Given the description of an element on the screen output the (x, y) to click on. 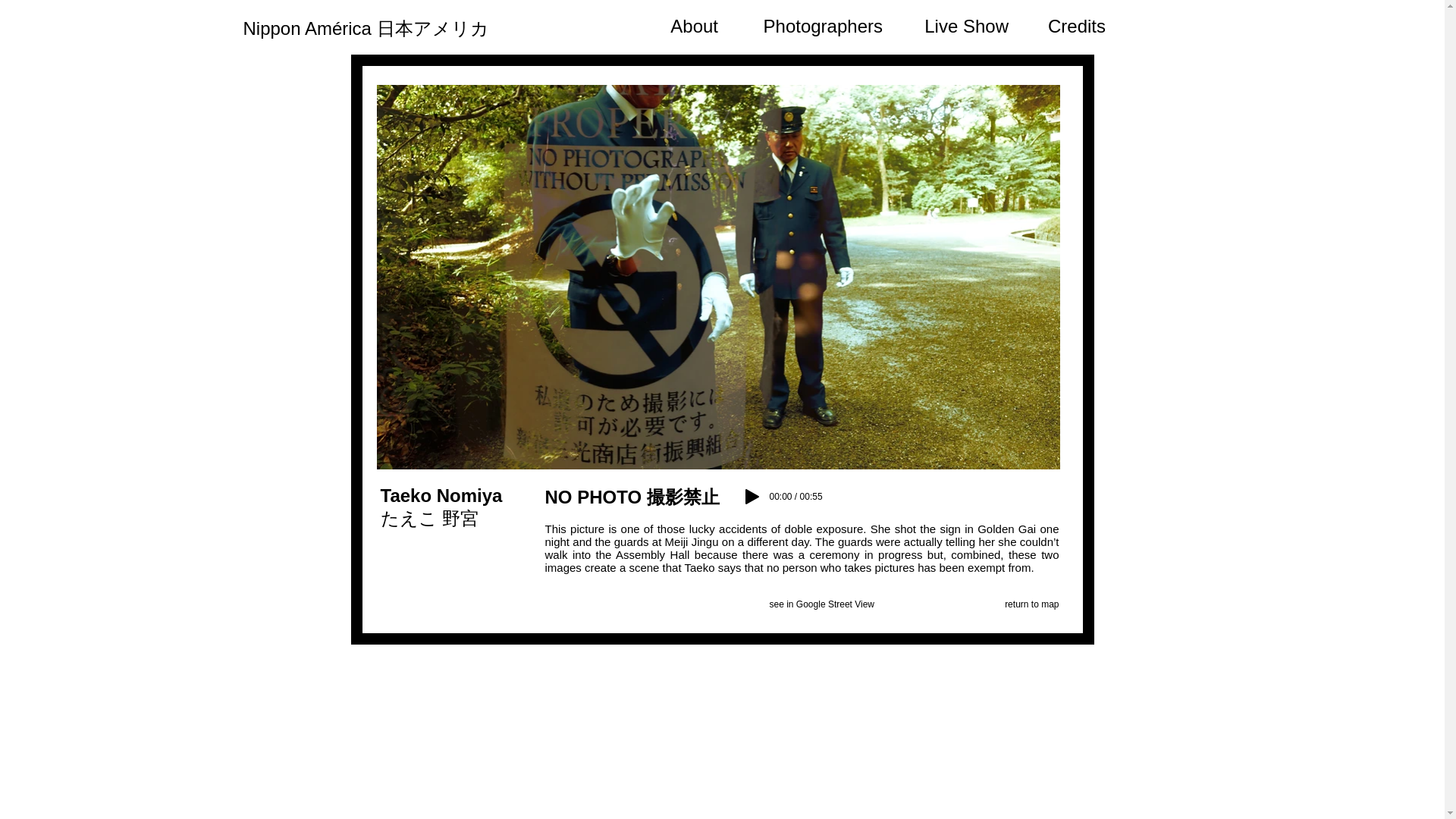
see in Google Street View (821, 603)
About (691, 19)
Photographers (817, 19)
Live Show (962, 19)
return to map (1031, 603)
Credits (1074, 19)
